Given the description of an element on the screen output the (x, y) to click on. 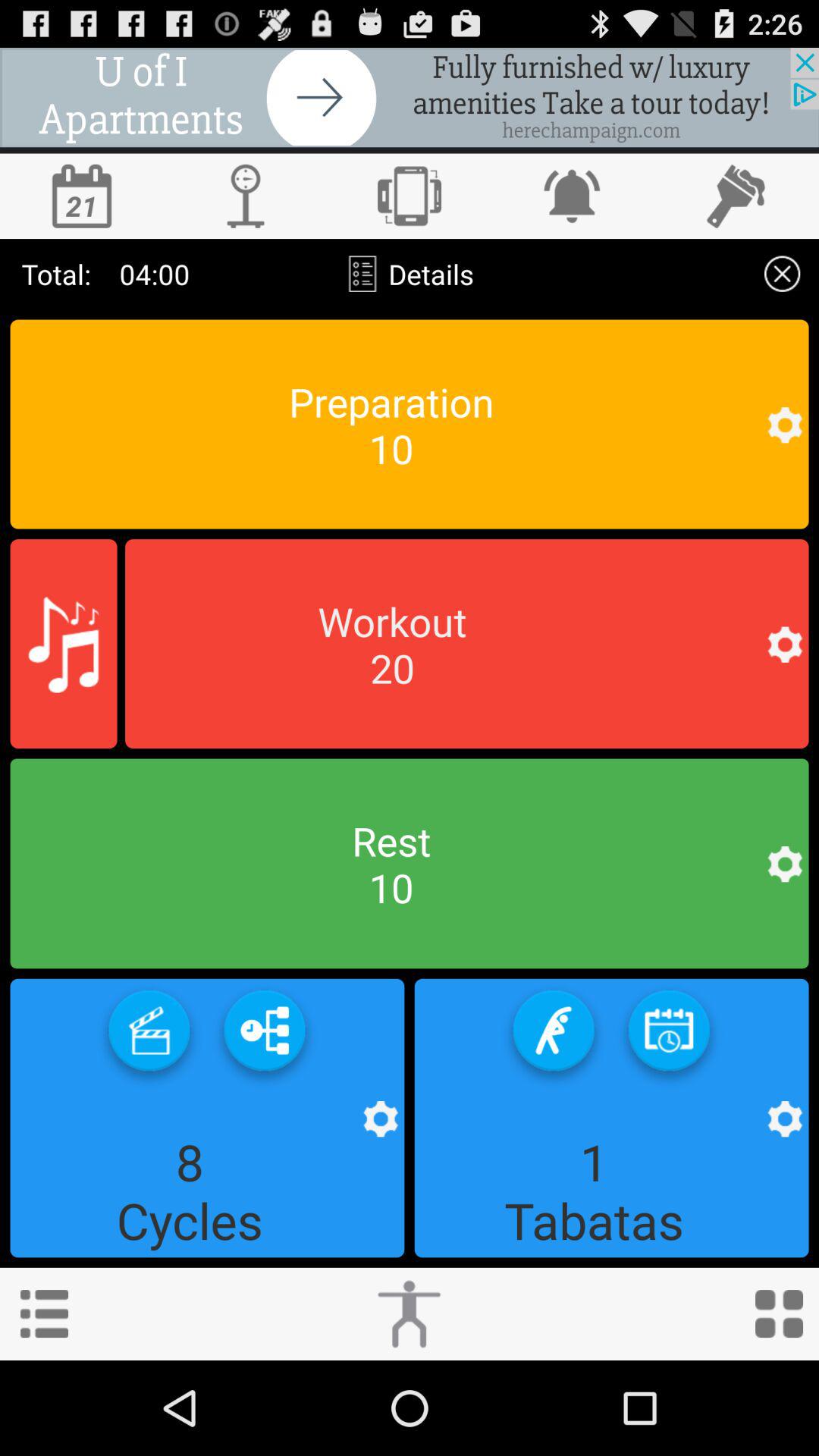
click the video player option (149, 1036)
